Given the description of an element on the screen output the (x, y) to click on. 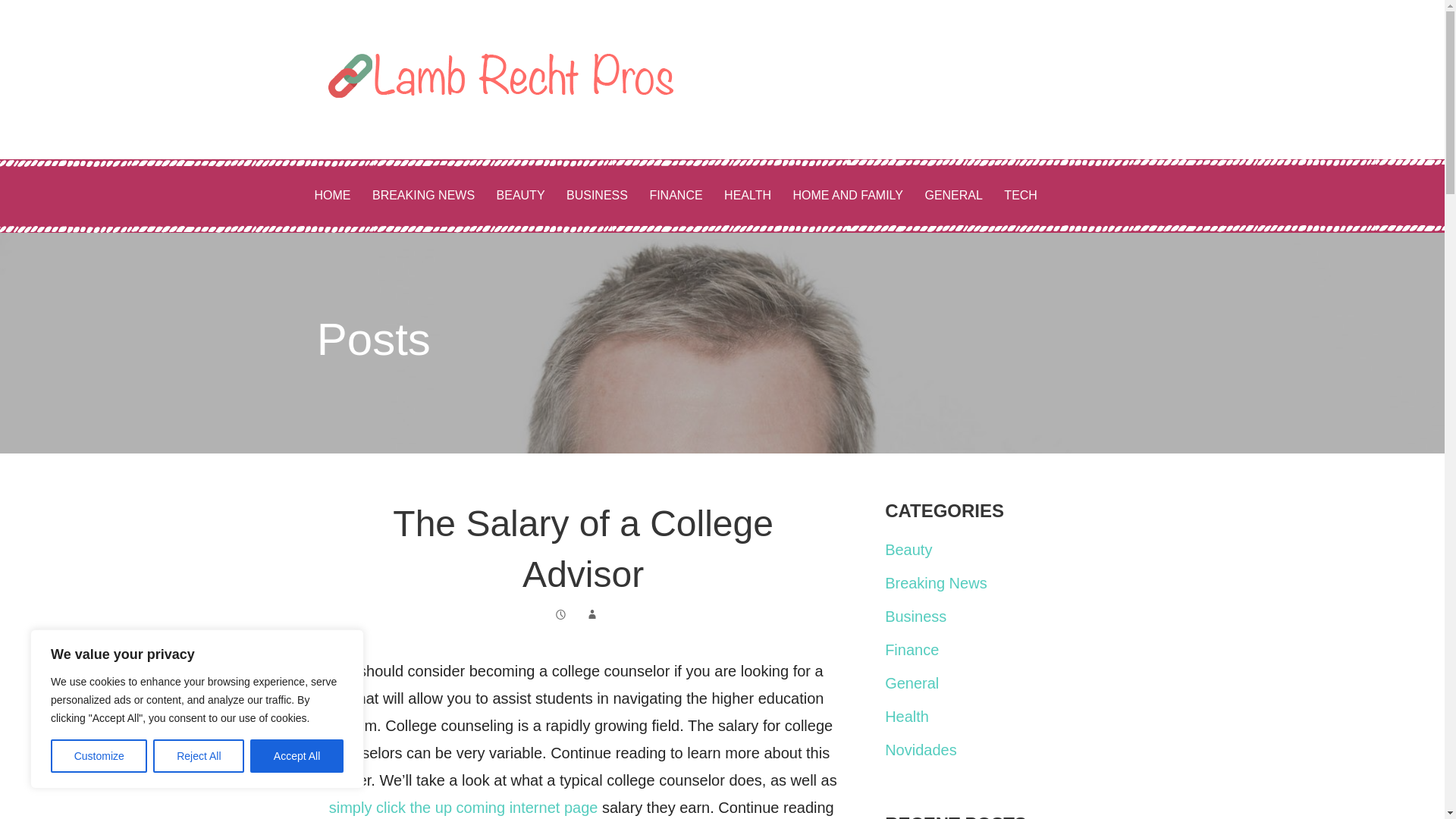
HOME AND FAMILY (847, 196)
FINANCE (675, 196)
BUSINESS (597, 196)
Breaking News (936, 582)
Finance (912, 649)
HOME (331, 196)
Reject All (198, 756)
BREAKING NEWS (422, 196)
Customize (98, 756)
simply click the up coming internet page (463, 807)
Business (915, 616)
GENERAL (953, 196)
HEALTH (747, 196)
BEAUTY (520, 196)
Lamb Recht Pros (469, 135)
